Given the description of an element on the screen output the (x, y) to click on. 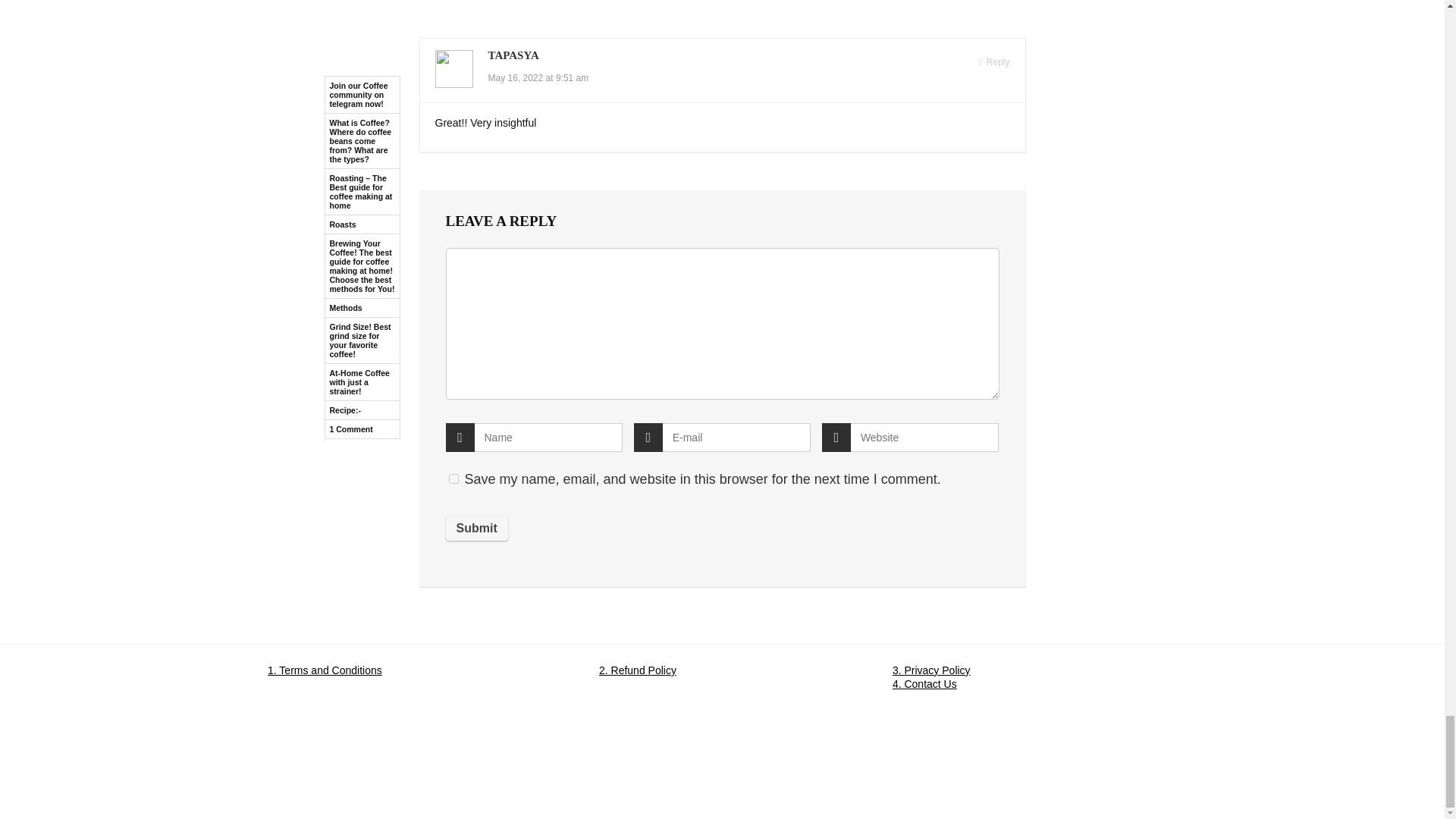
Reply (993, 62)
yes (453, 479)
Submit (476, 528)
